Given the description of an element on the screen output the (x, y) to click on. 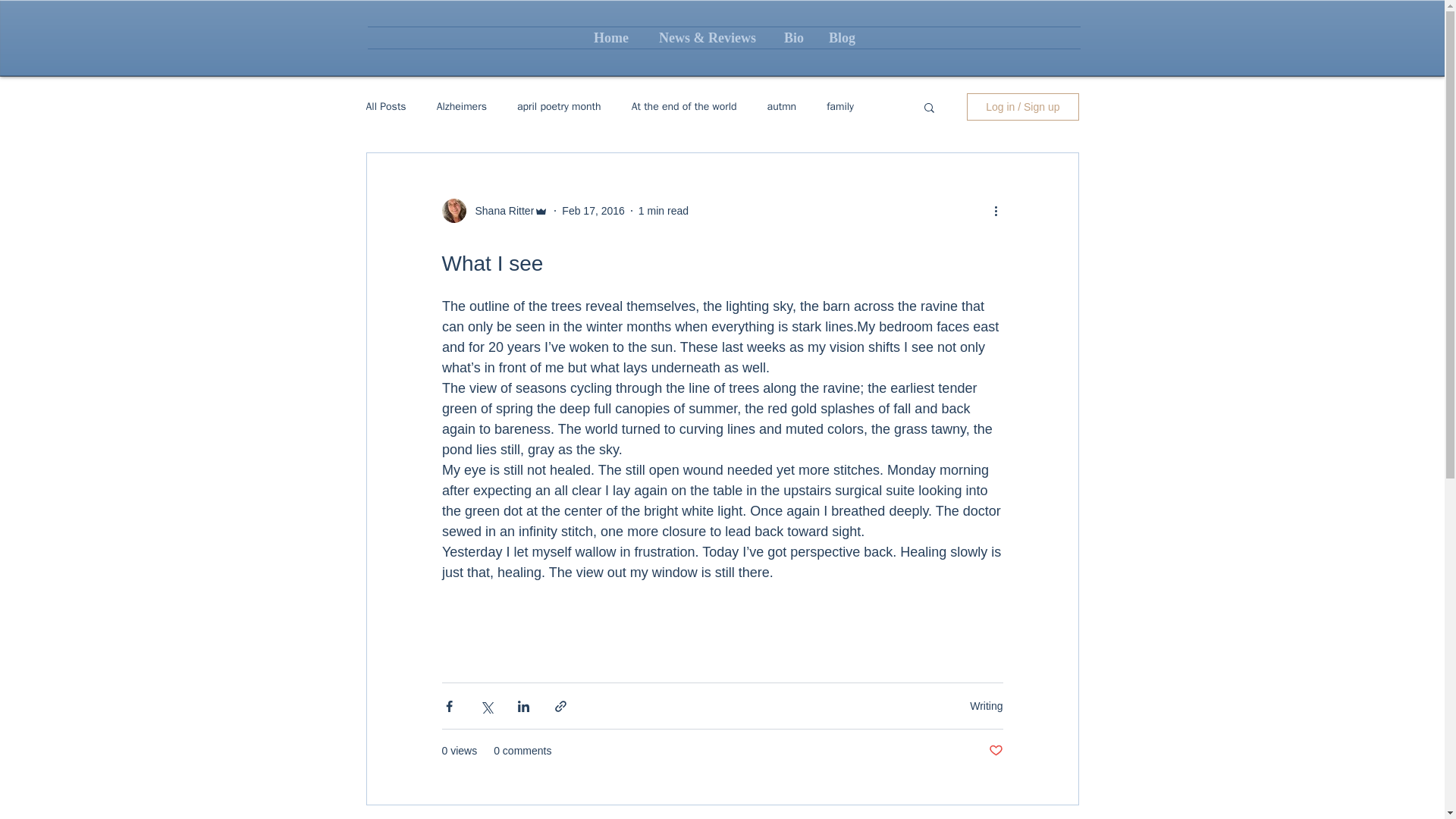
All Posts (385, 106)
At the end of the world (683, 106)
april poetry month (558, 106)
1 min read (663, 210)
Alzheimers (461, 106)
Bio (793, 37)
family (840, 106)
Blog (841, 37)
Home (611, 37)
Feb 17, 2016 (593, 210)
autmn (781, 106)
Shana Ritter (499, 211)
